Given the description of an element on the screen output the (x, y) to click on. 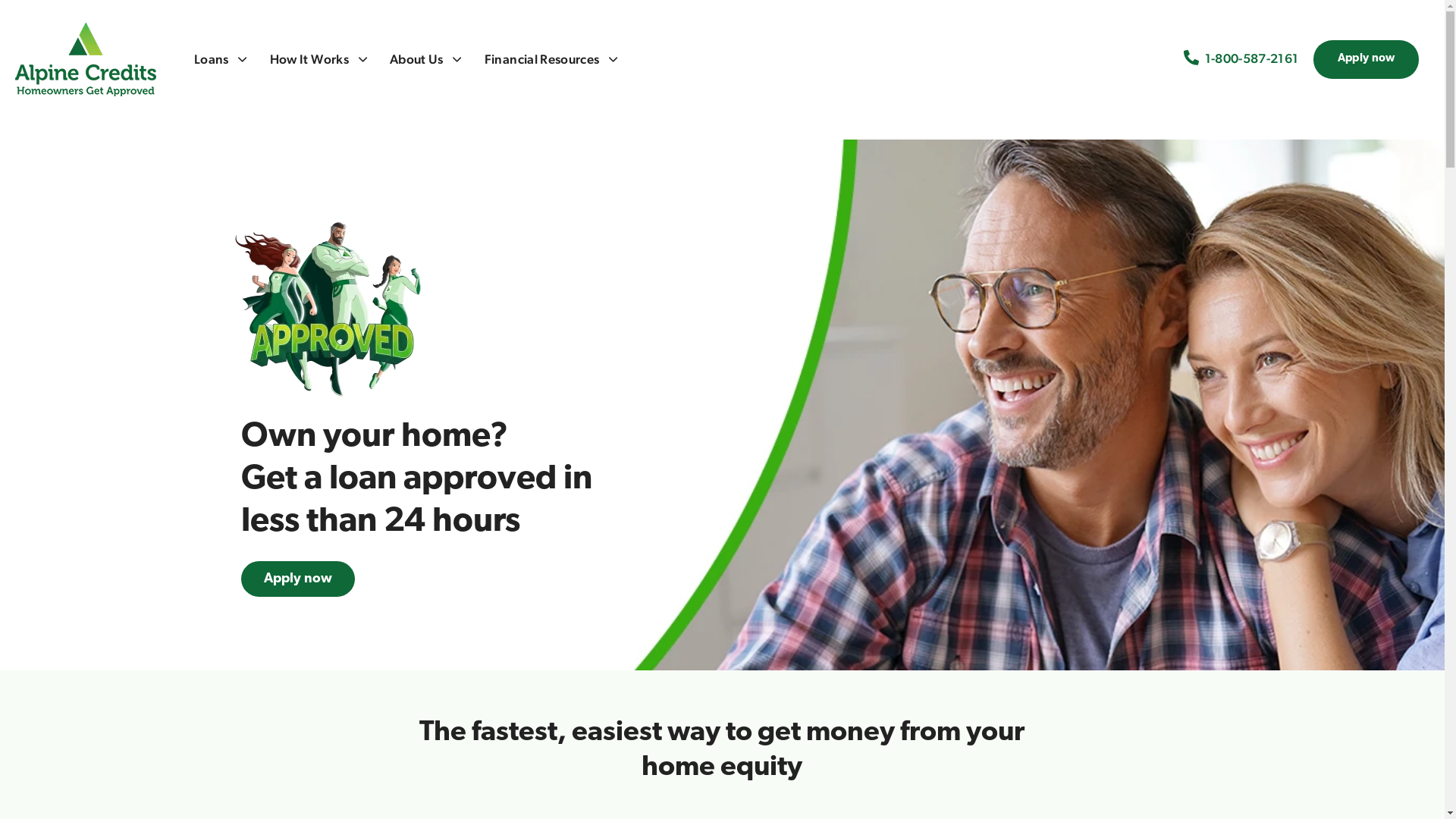
Financial Resources Element type: text (551, 59)
Loans Element type: text (220, 59)
Apply now Element type: text (1365, 59)
1-800-587-2161 Element type: text (1251, 59)
How It Works Element type: text (318, 59)
Apply now Element type: text (297, 578)
About Us Element type: text (425, 59)
